Given the description of an element on the screen output the (x, y) to click on. 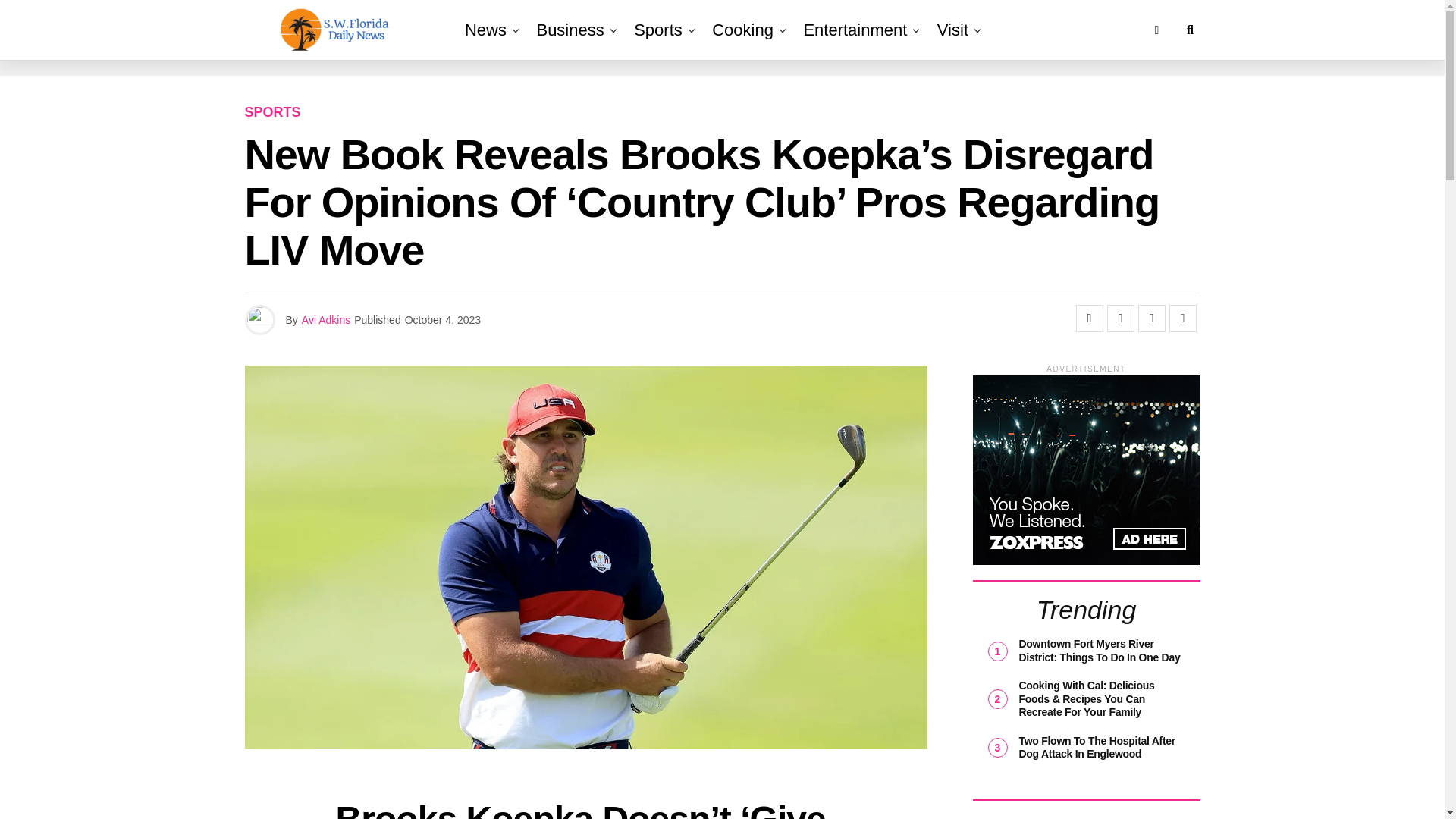
Tweet This Post (1120, 318)
Sports (658, 30)
Posts by Avi Adkins (325, 319)
News (485, 30)
Share on Facebook (1088, 318)
Cooking (742, 30)
Entertainment (854, 30)
Business (569, 30)
